Given the description of an element on the screen output the (x, y) to click on. 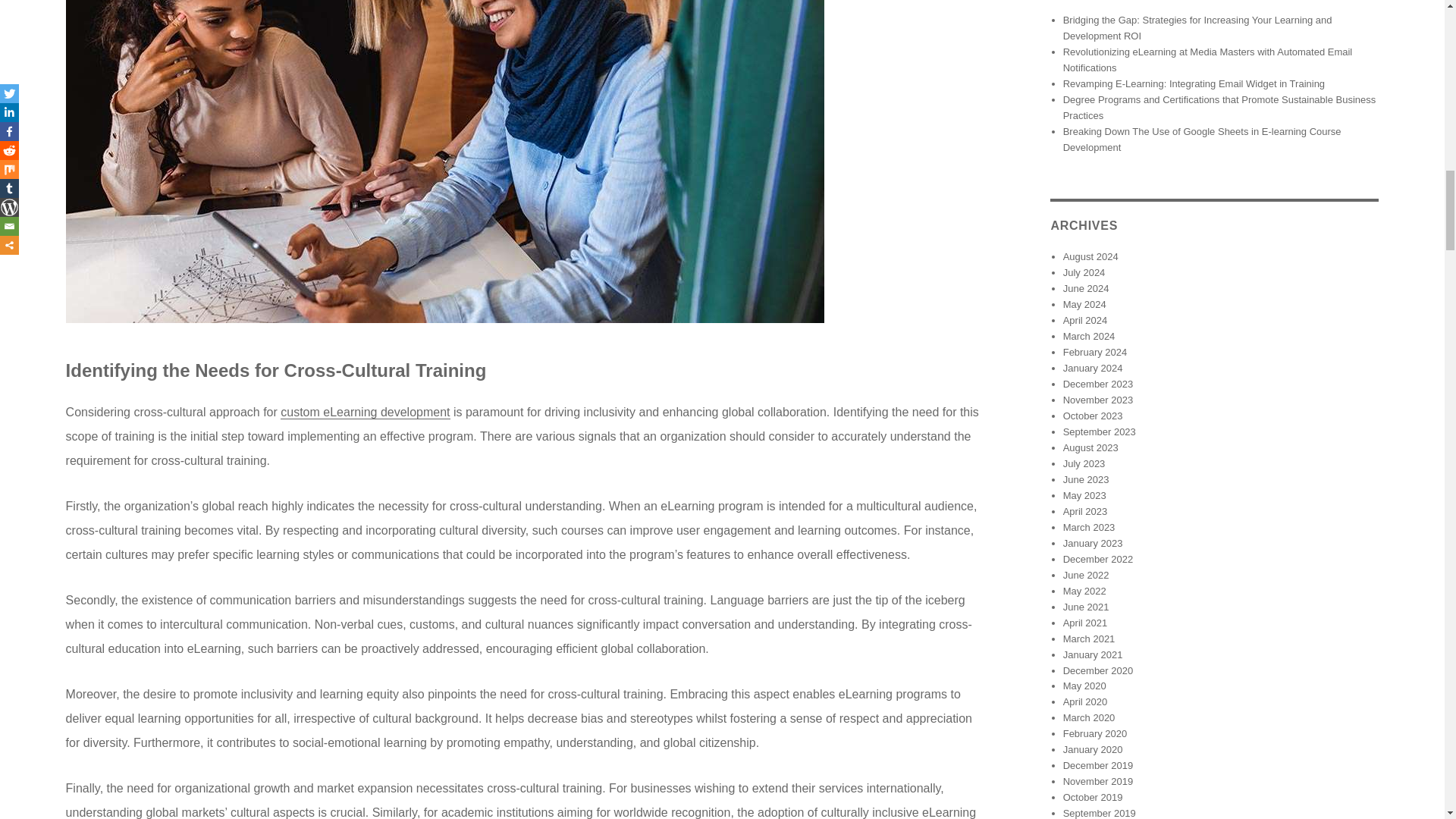
August 2024 (1090, 256)
custom eLearning development (365, 410)
Revamping E-Learning: Integrating Email Widget in Training (1193, 83)
